Given the description of an element on the screen output the (x, y) to click on. 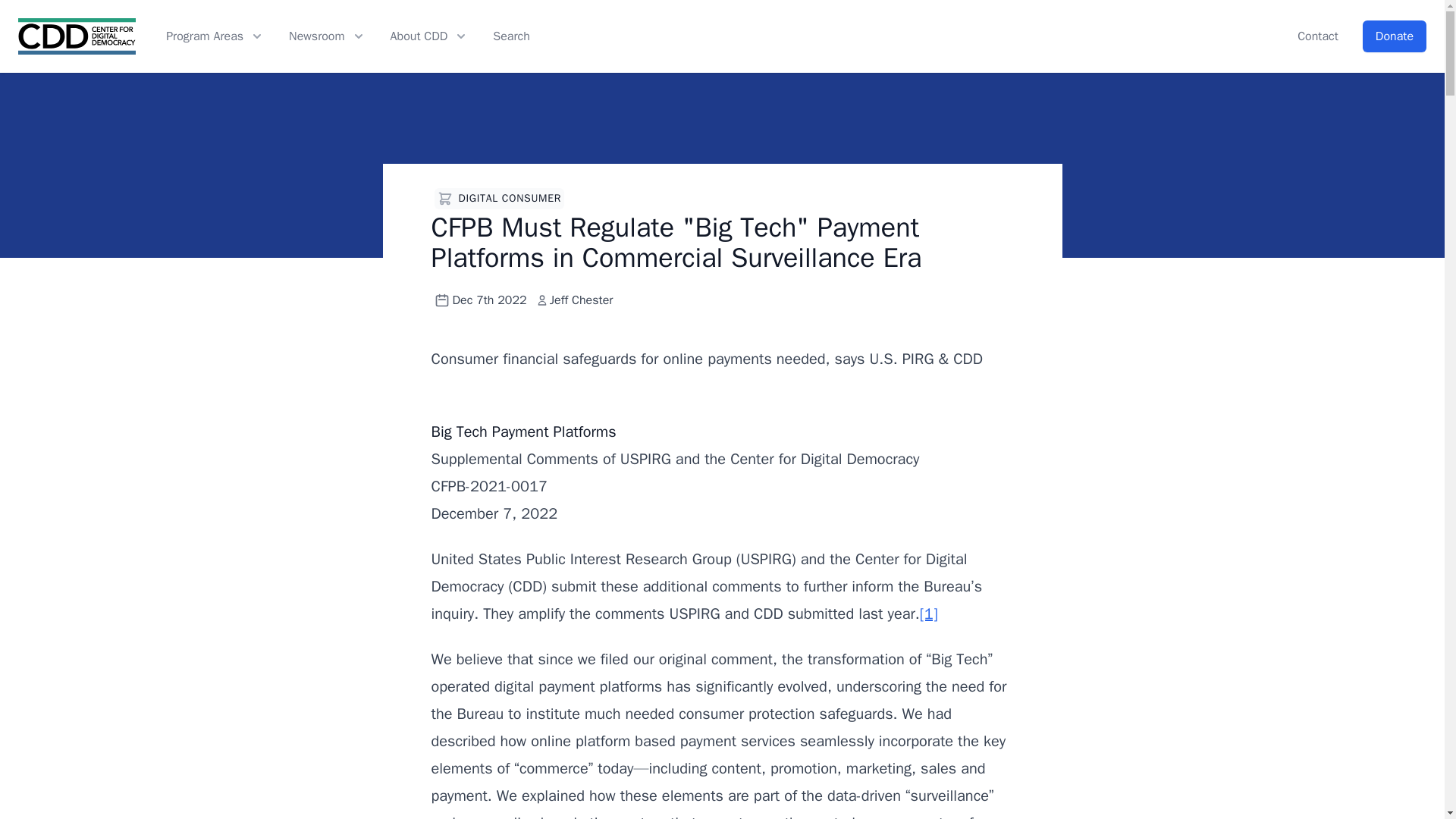
CDD (76, 36)
Newsroom (327, 36)
Search (511, 36)
About CDD (429, 36)
Program Areas (214, 36)
Donate (1394, 36)
Contact (1317, 36)
